Given the description of an element on the screen output the (x, y) to click on. 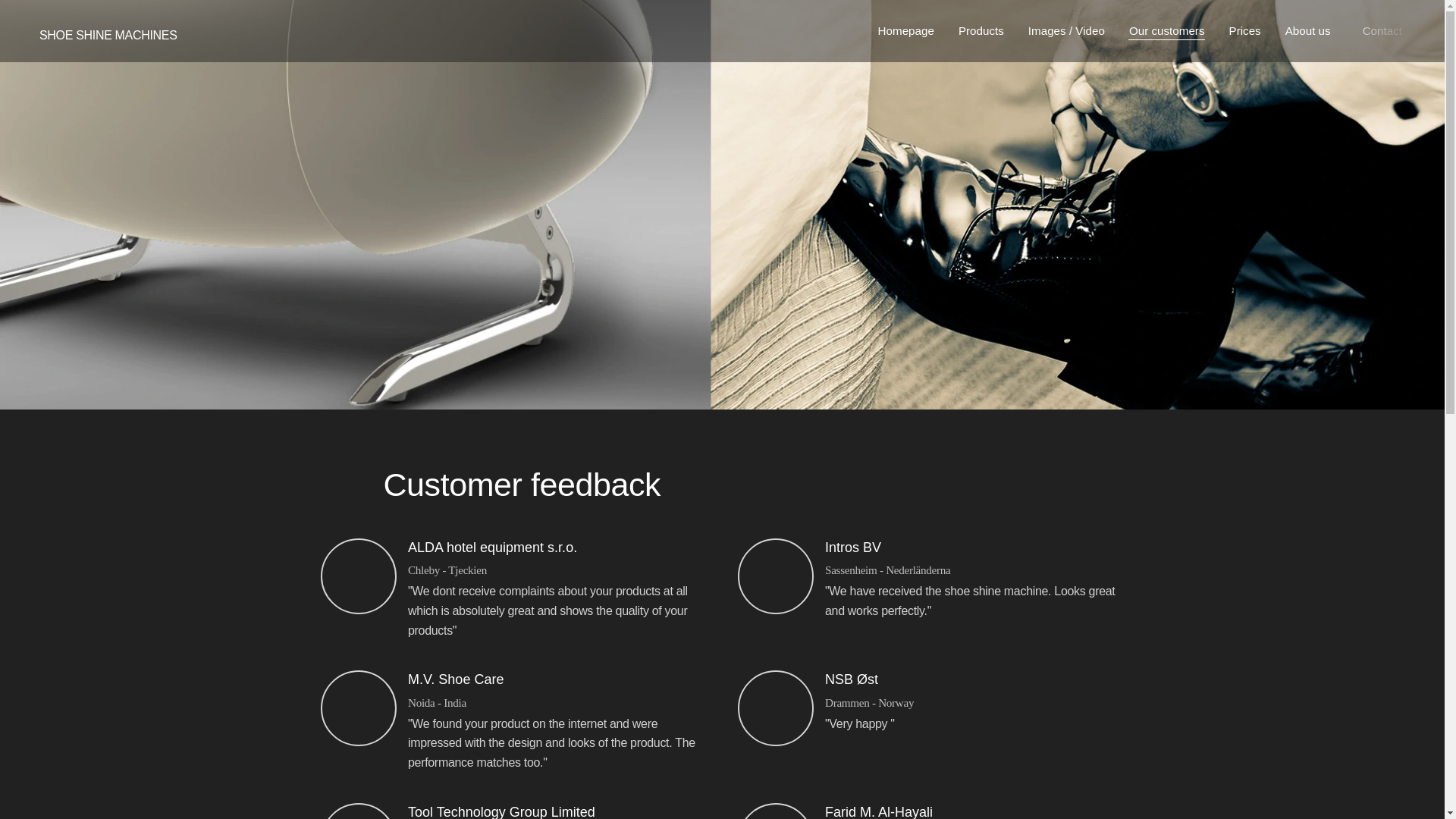
Homepage (910, 30)
Products (981, 30)
Prices (1243, 30)
Our customers (1166, 30)
About us (1311, 30)
Contact (1382, 30)
SHOE SHINE MACHINES (106, 31)
